Given the description of an element on the screen output the (x, y) to click on. 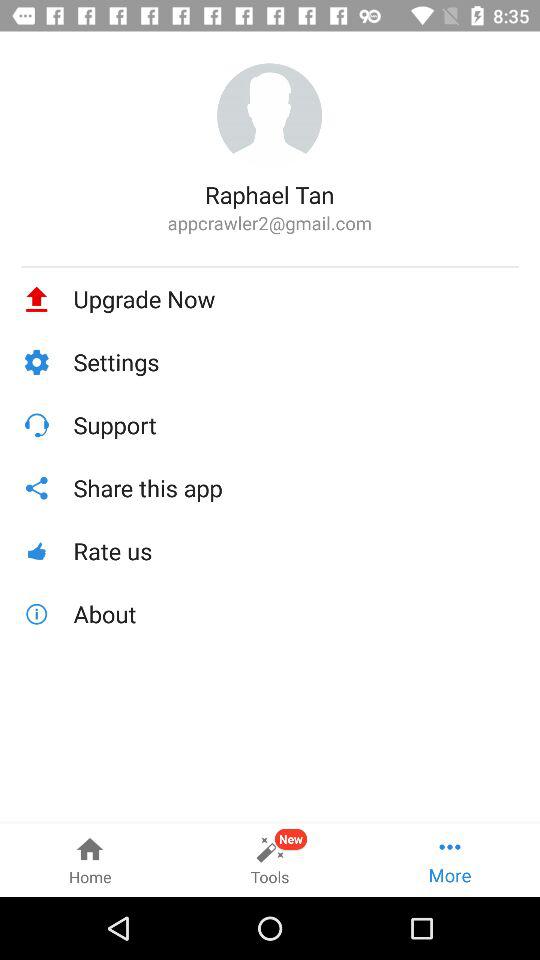
click the about item (296, 614)
